Given the description of an element on the screen output the (x, y) to click on. 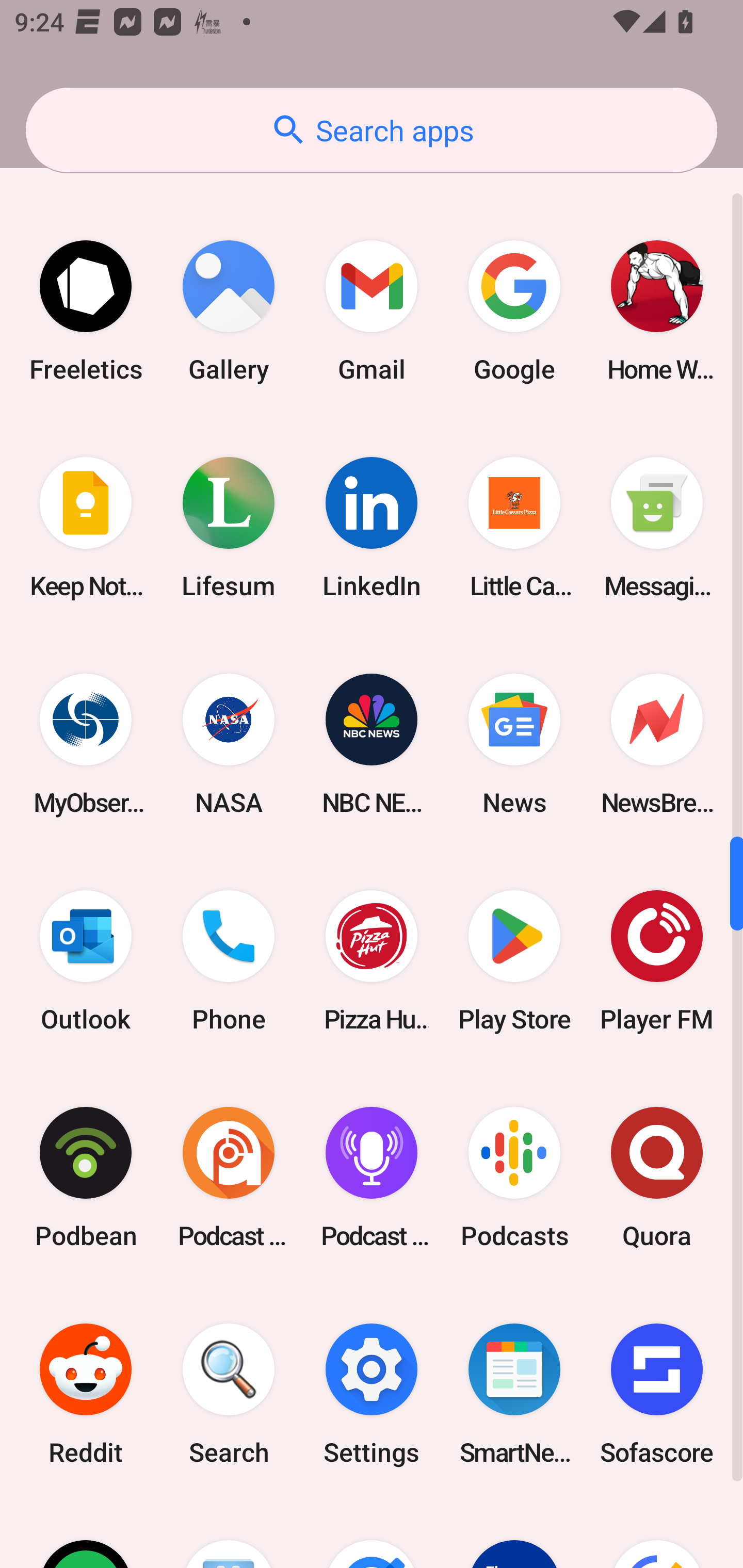
  Search apps (371, 130)
Freeletics (85, 310)
Gallery (228, 310)
Gmail (371, 310)
Google (514, 310)
Home Workout (656, 310)
Keep Notes (85, 527)
Lifesum (228, 527)
LinkedIn (371, 527)
Little Caesars Pizza (514, 527)
Messaging (656, 527)
MyObservatory (85, 744)
NASA (228, 744)
NBC NEWS (371, 744)
News (514, 744)
NewsBreak (656, 744)
Outlook (85, 960)
Phone (228, 960)
Pizza Hut HK & Macau (371, 960)
Play Store (514, 960)
Player FM (656, 960)
Podbean (85, 1177)
Podcast Addict (228, 1177)
Podcast Player (371, 1177)
Podcasts (514, 1177)
Quora (656, 1177)
Reddit (85, 1393)
Search (228, 1393)
Settings (371, 1393)
SmartNews (514, 1393)
Sofascore (656, 1393)
